Given the description of an element on the screen output the (x, y) to click on. 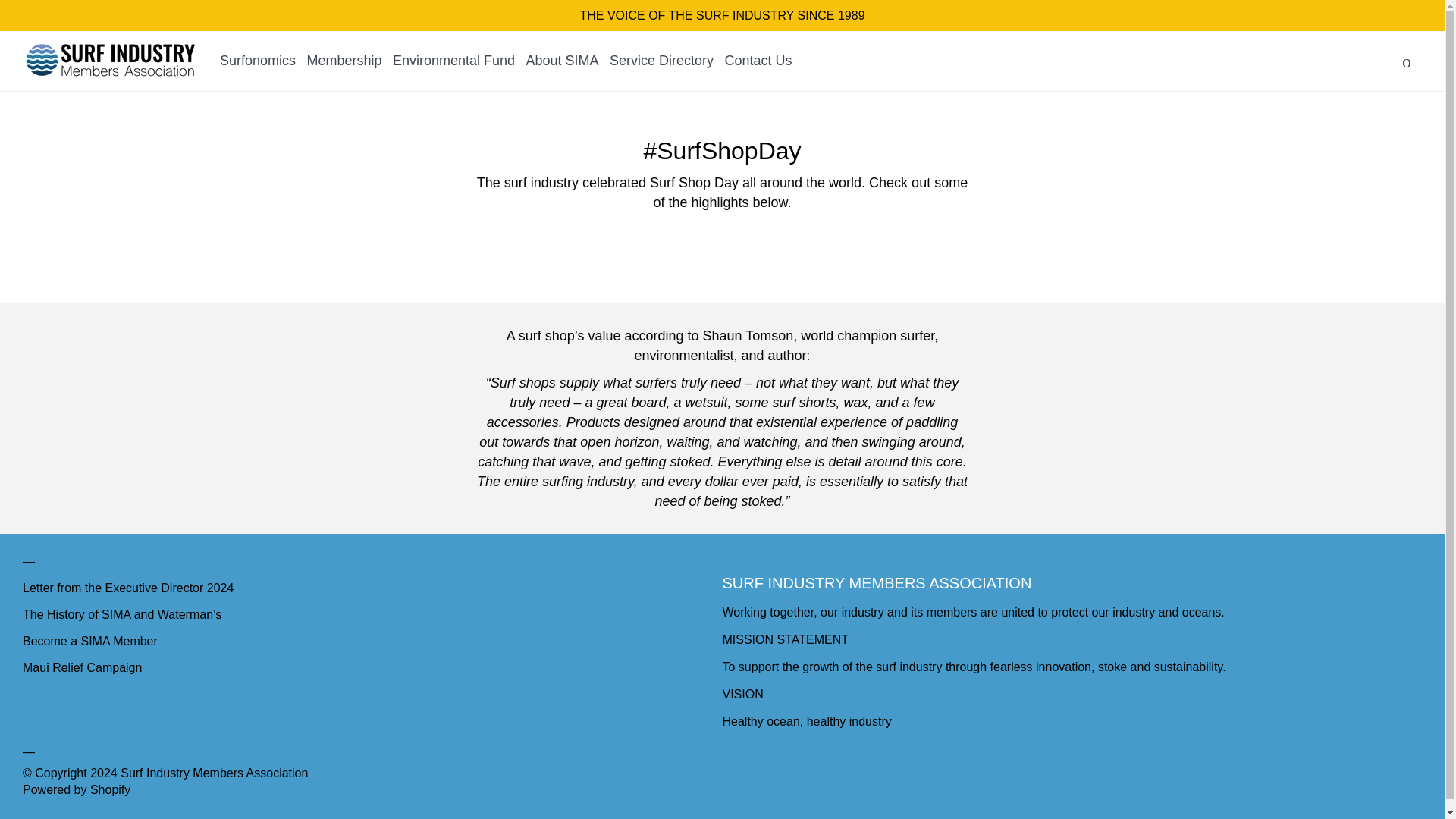
Environmental Fund (454, 60)
Membership (343, 60)
Powered by Shopify (77, 789)
Maui Relief Campaign (82, 667)
Become a SIMA Member (90, 640)
About SIMA (561, 60)
Surfonomics (257, 60)
Service Directory (661, 60)
Letter from the Executive Director 2024 (127, 587)
Contact Us (758, 60)
